Given the description of an element on the screen output the (x, y) to click on. 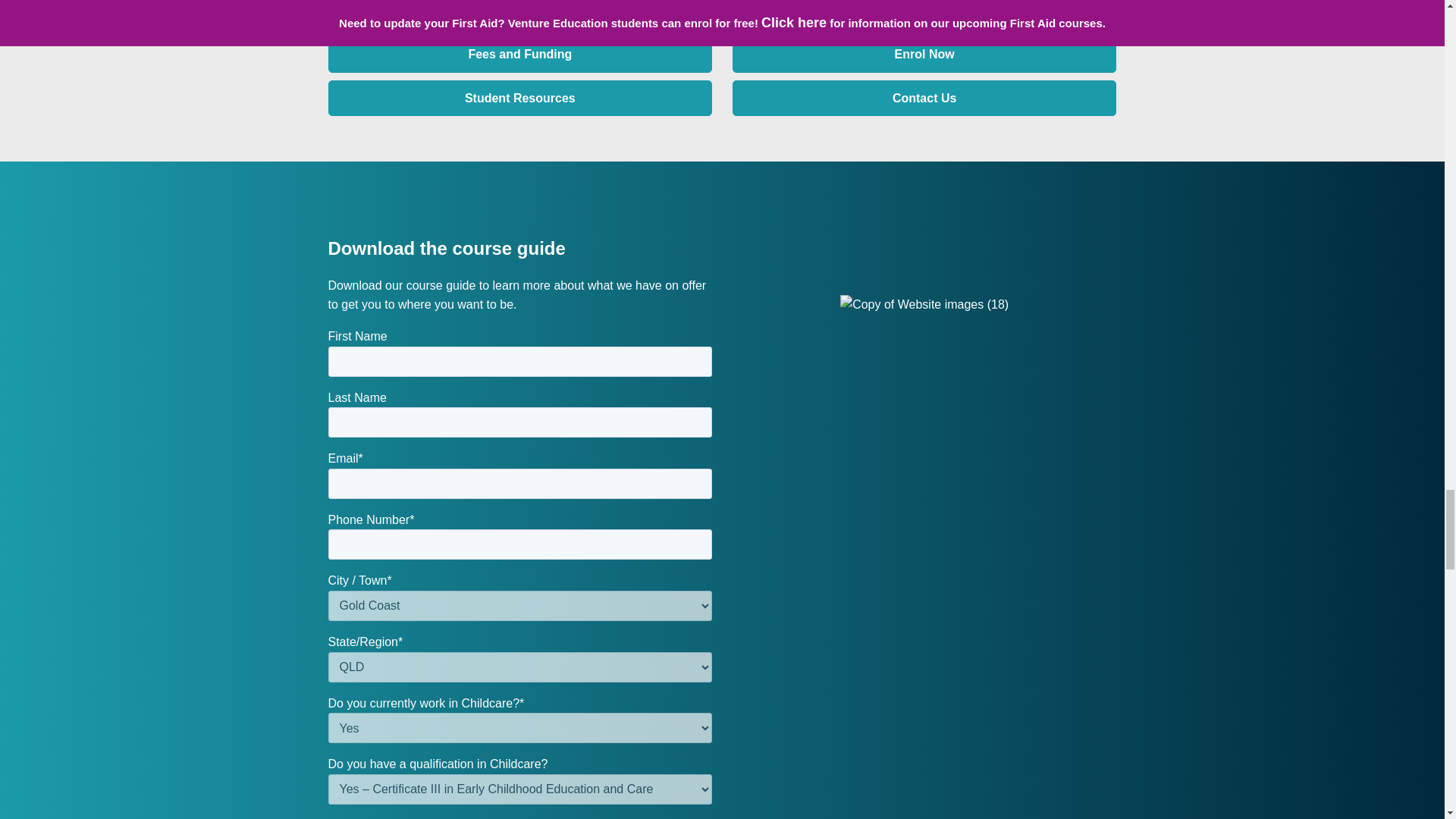
Enrol Now (924, 54)
Contact Us (924, 98)
Student Resources (519, 98)
Fees and Funding (519, 54)
